Given the description of an element on the screen output the (x, y) to click on. 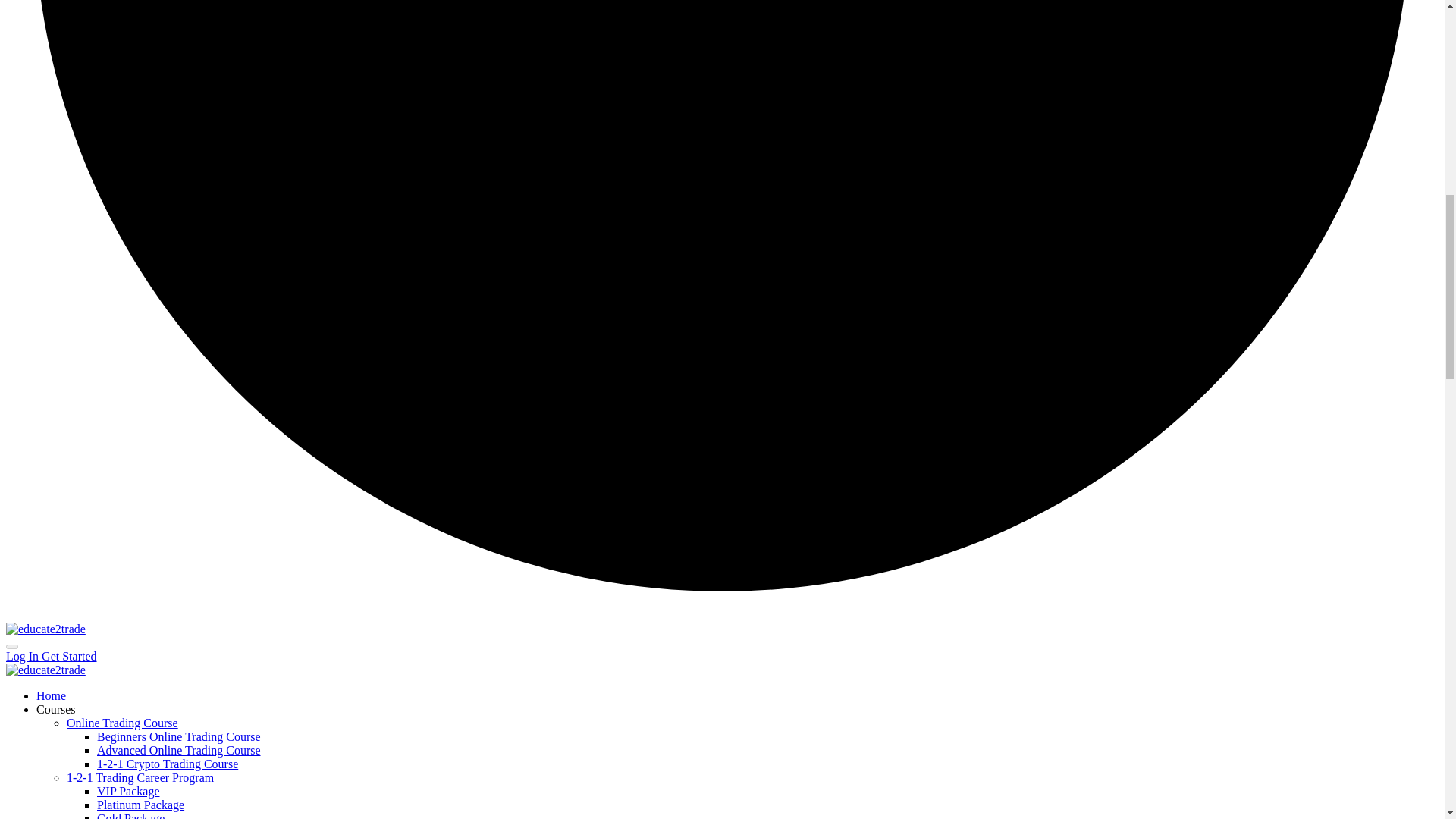
Online Trading Course (121, 722)
1-2-1 Crypto Trading Course (167, 763)
VIP Package (128, 790)
Get Started (69, 656)
Platinum Package (140, 804)
Courses (55, 708)
Gold Package (130, 815)
Beginners Online Trading Course (178, 736)
Home (50, 695)
Advanced Online Trading Course (178, 749)
Log In (23, 656)
1-2-1 Trading Career Program (140, 777)
